Given the description of an element on the screen output the (x, y) to click on. 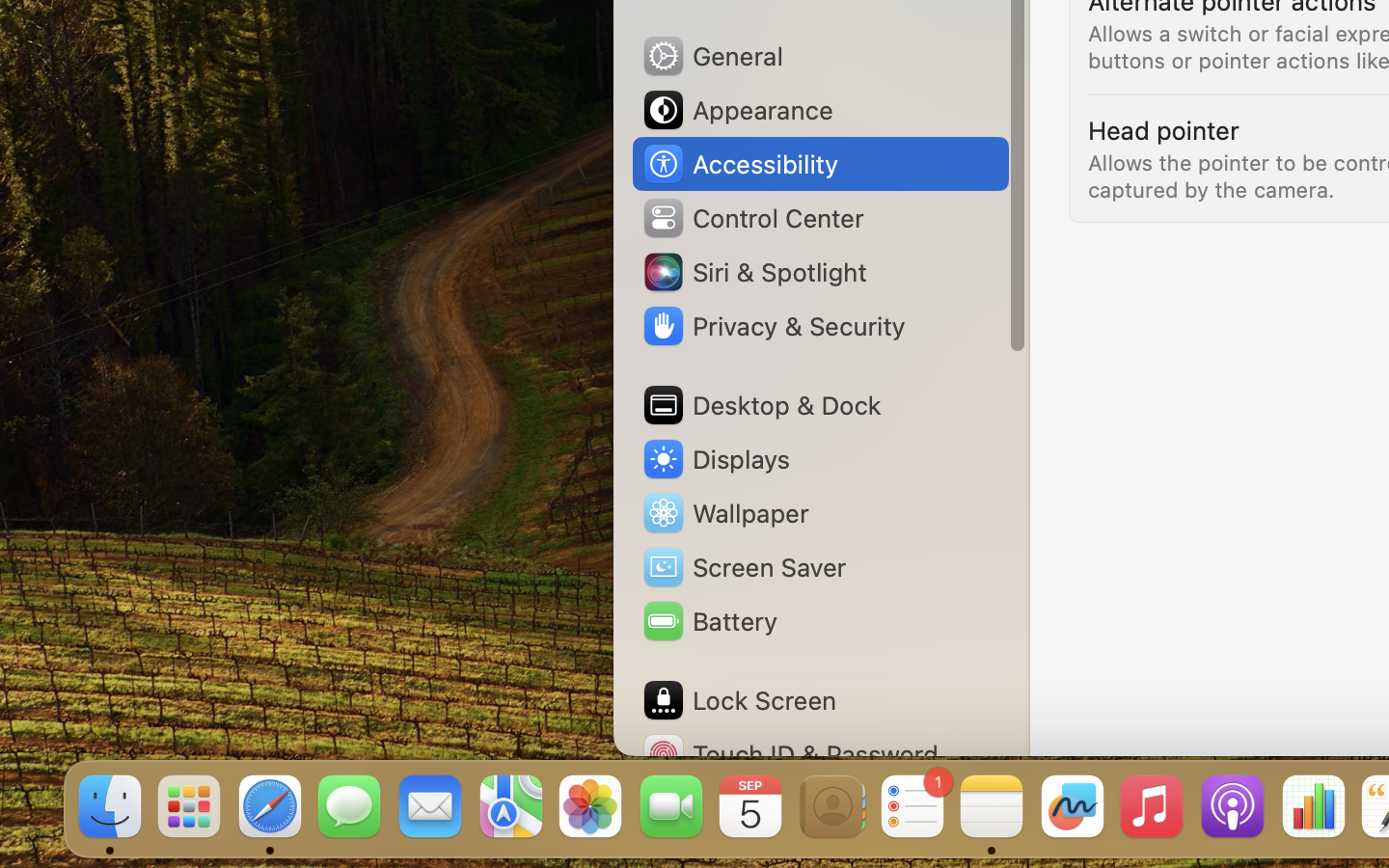
Wallpaper Element type: AXStaticText (724, 512)
Head pointer Element type: AXStaticText (1163, 128)
Appearance Element type: AXStaticText (736, 109)
Accessibility Element type: AXStaticText (739, 163)
Lock Screen Element type: AXStaticText (738, 700)
